Given the description of an element on the screen output the (x, y) to click on. 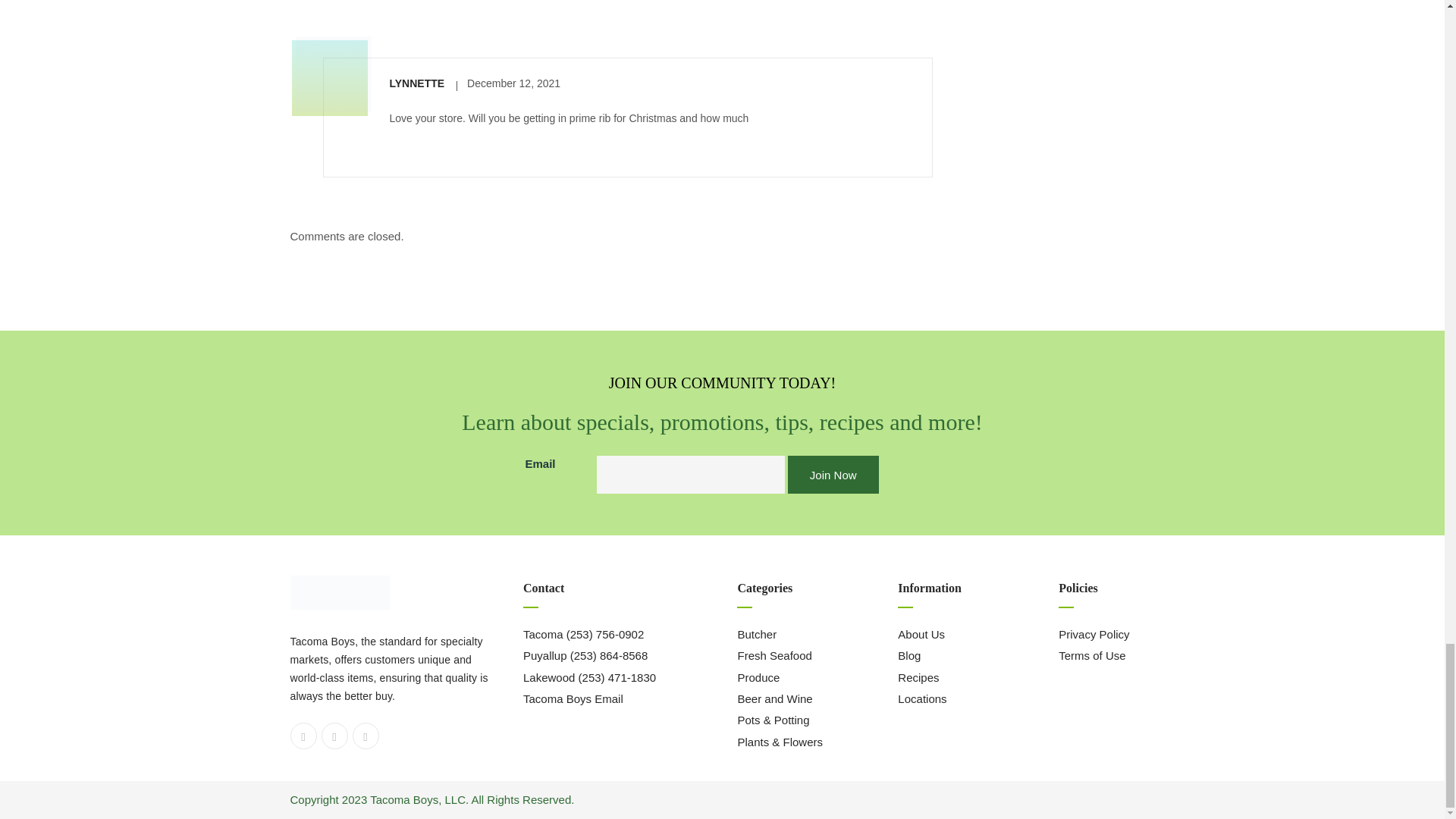
facebook (302, 735)
Join Now (833, 474)
instagram (334, 735)
pinterest plus (365, 735)
